Given the description of an element on the screen output the (x, y) to click on. 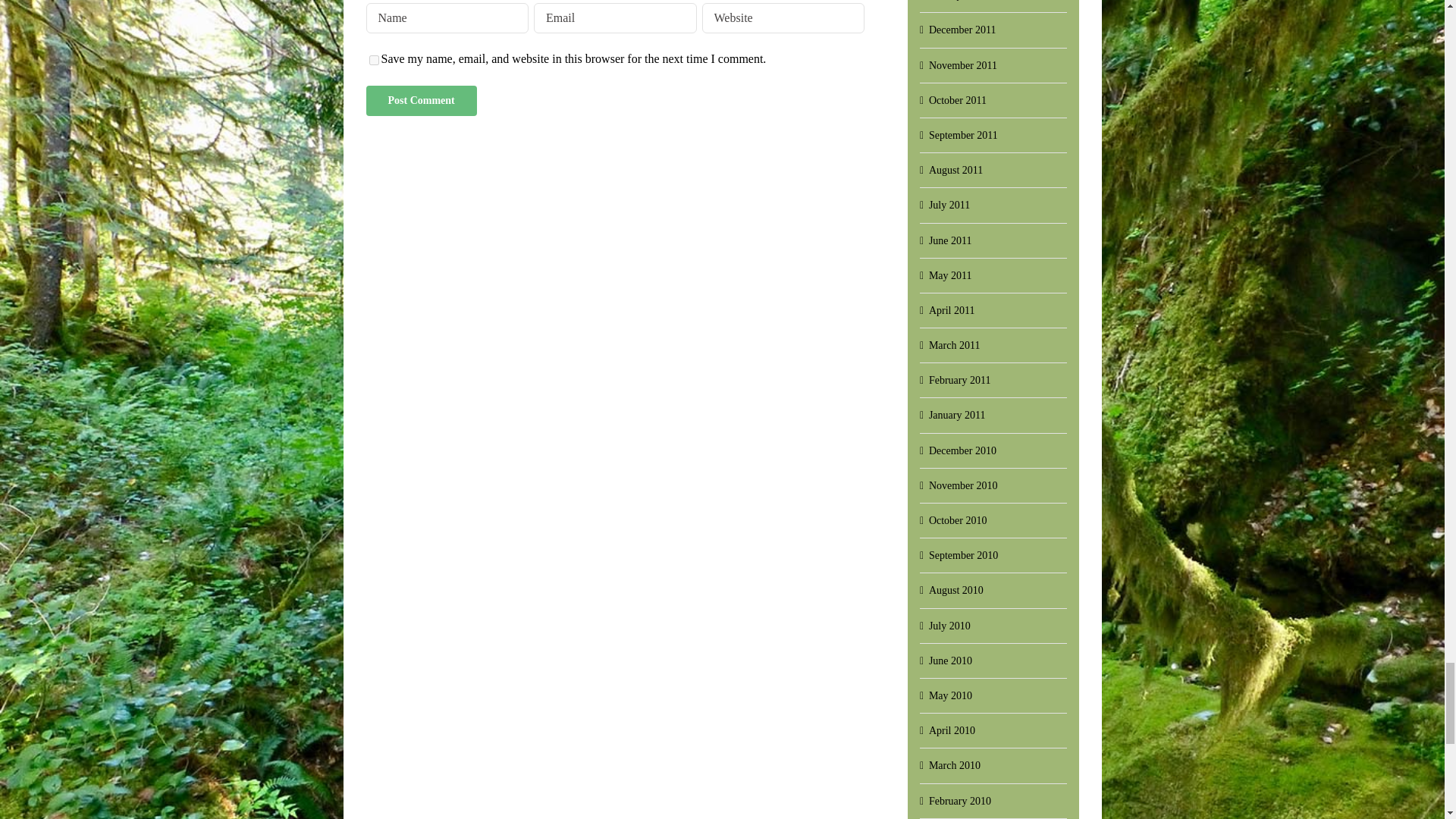
Post Comment (420, 100)
yes (373, 60)
